Given the description of an element on the screen output the (x, y) to click on. 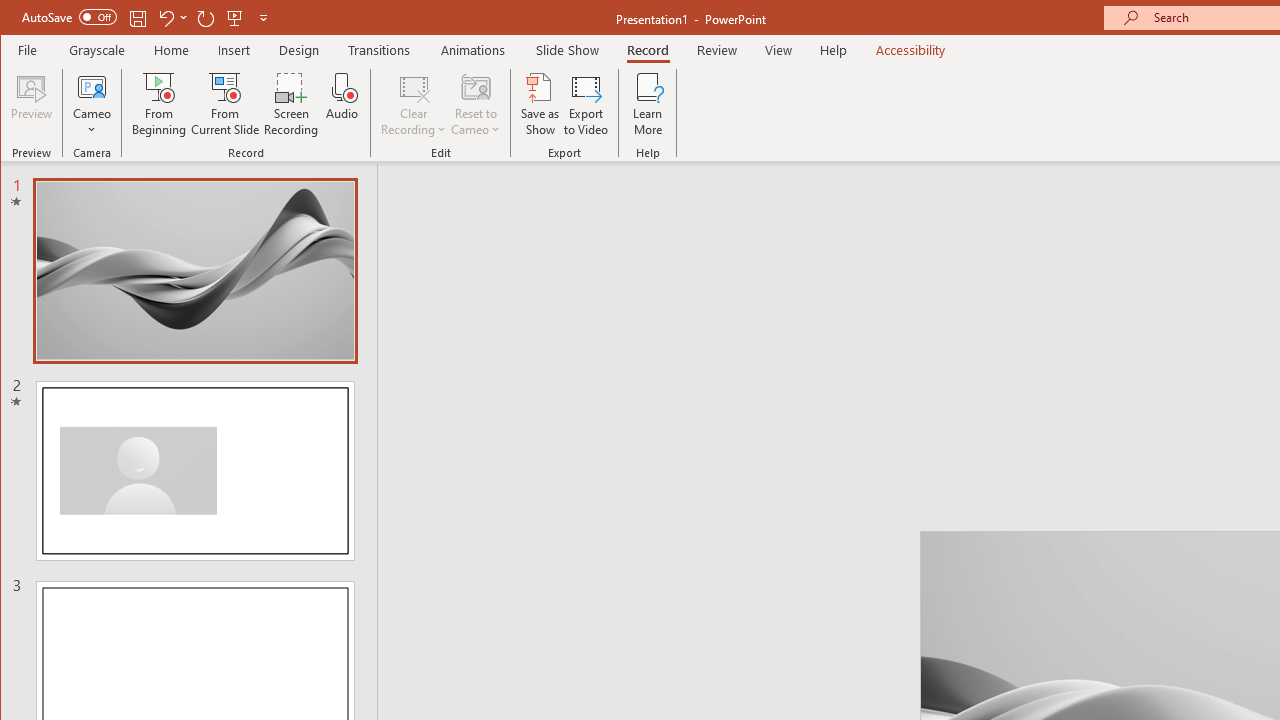
Grayscale (97, 50)
Reset to Cameo (476, 104)
Learn More (648, 104)
From Current Slide... (225, 104)
